Given the description of an element on the screen output the (x, y) to click on. 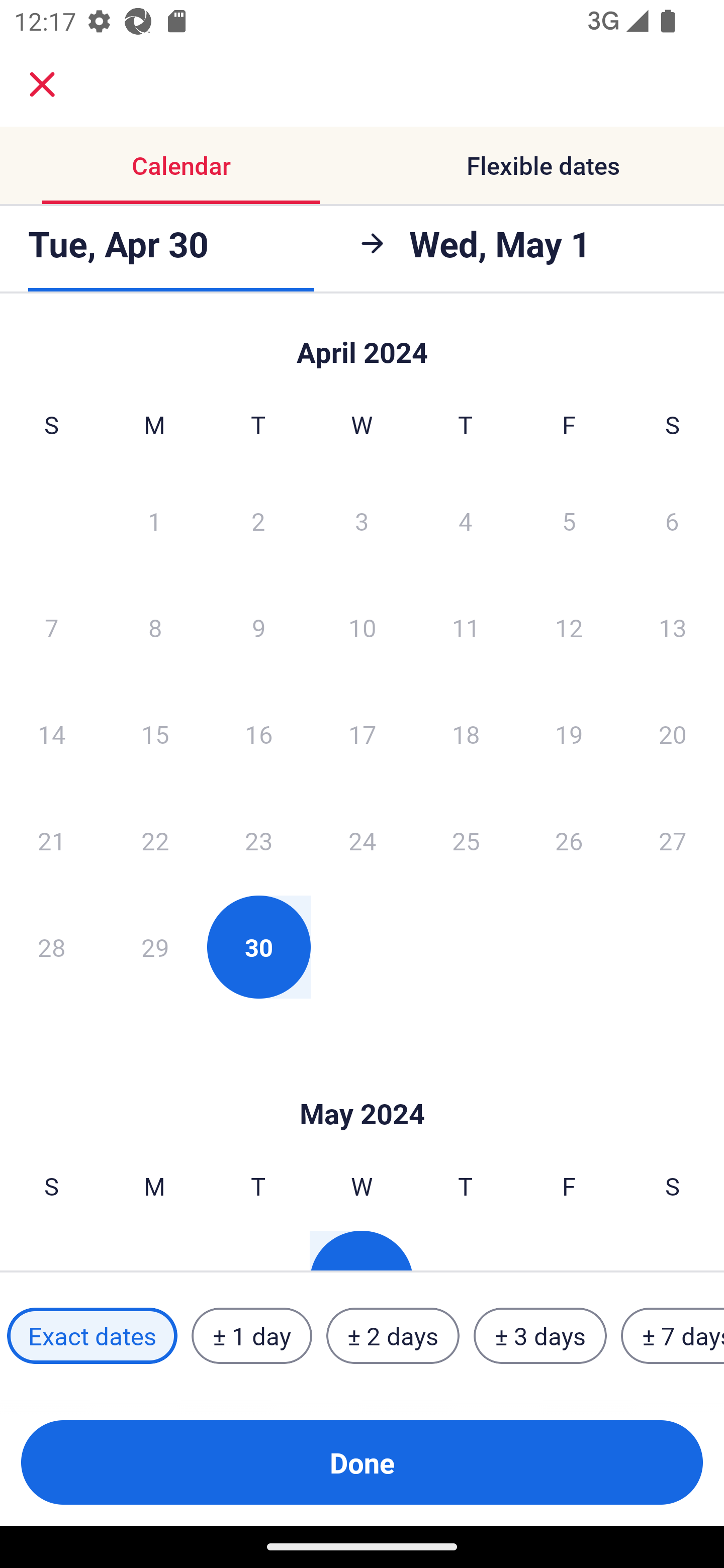
close. (42, 84)
Flexible dates (542, 164)
Skip to Done (362, 343)
1 Monday, April 1, 2024 (154, 520)
2 Tuesday, April 2, 2024 (257, 520)
3 Wednesday, April 3, 2024 (361, 520)
4 Thursday, April 4, 2024 (465, 520)
5 Friday, April 5, 2024 (568, 520)
6 Saturday, April 6, 2024 (672, 520)
7 Sunday, April 7, 2024 (51, 626)
8 Monday, April 8, 2024 (155, 626)
9 Tuesday, April 9, 2024 (258, 626)
10 Wednesday, April 10, 2024 (362, 626)
11 Thursday, April 11, 2024 (465, 626)
12 Friday, April 12, 2024 (569, 626)
13 Saturday, April 13, 2024 (672, 626)
14 Sunday, April 14, 2024 (51, 733)
15 Monday, April 15, 2024 (155, 733)
16 Tuesday, April 16, 2024 (258, 733)
17 Wednesday, April 17, 2024 (362, 733)
18 Thursday, April 18, 2024 (465, 733)
19 Friday, April 19, 2024 (569, 733)
20 Saturday, April 20, 2024 (672, 733)
21 Sunday, April 21, 2024 (51, 840)
22 Monday, April 22, 2024 (155, 840)
23 Tuesday, April 23, 2024 (258, 840)
24 Wednesday, April 24, 2024 (362, 840)
25 Thursday, April 25, 2024 (465, 840)
26 Friday, April 26, 2024 (569, 840)
27 Saturday, April 27, 2024 (672, 840)
28 Sunday, April 28, 2024 (51, 946)
29 Monday, April 29, 2024 (155, 946)
Skip to Done (362, 1083)
Exact dates (92, 1335)
± 1 day (251, 1335)
± 2 days (392, 1335)
± 3 days (539, 1335)
± 7 days (672, 1335)
Done (361, 1462)
